Given the description of an element on the screen output the (x, y) to click on. 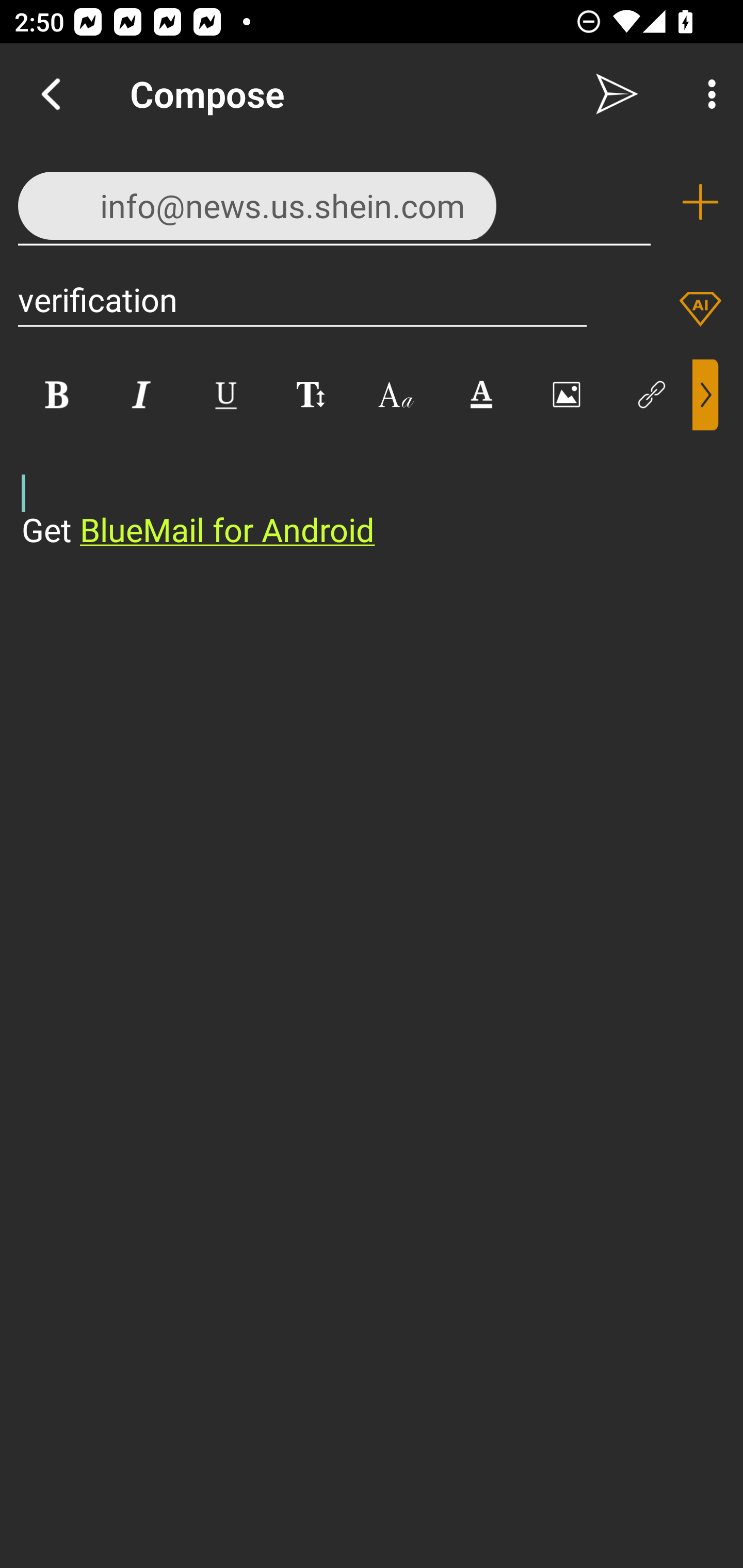
Navigate up (50, 93)
Send (616, 93)
More Options (706, 93)
<info@news.us.shein.com>,  (334, 201)
Add recipient (To) (699, 201)
verification (302, 299)


⁣Get BlueMail for Android ​ (355, 491)
